Given the description of an element on the screen output the (x, y) to click on. 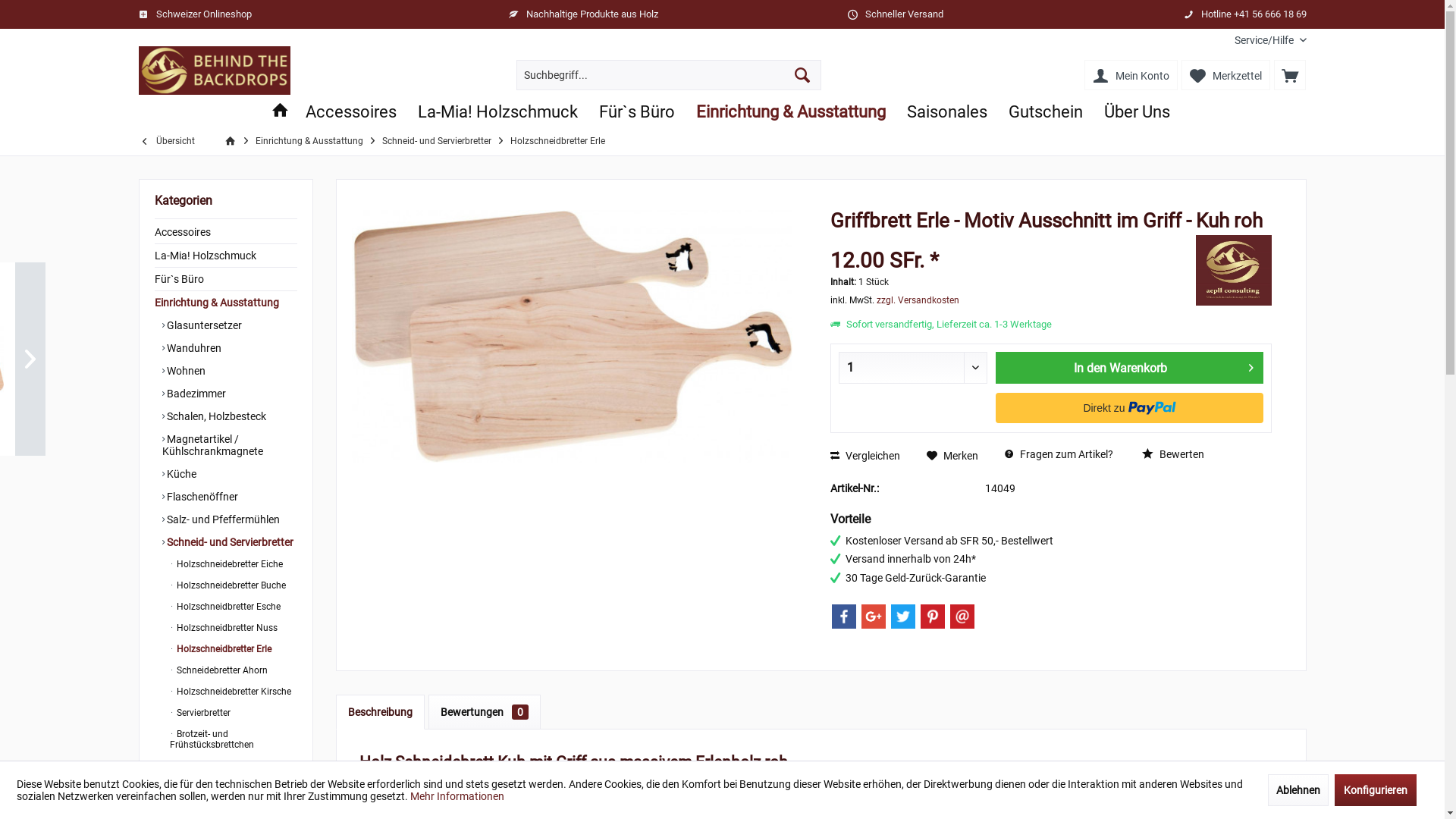
zzgl. Versandkosten Element type: text (917, 299)
Ablehnen Element type: text (1297, 790)
La-Mia - zur Startseite wechseln Element type: hover (213, 70)
Schneidebretter Ahorn Element type: text (233, 669)
Holzschneidbretter Erle Element type: text (233, 648)
Home Element type: hover (278, 112)
Saisonales Element type: text (225, 774)
Einrichtung & Ausstattung Element type: text (309, 141)
Accessoires Element type: text (350, 112)
Fragen zum Artikel? Element type: text (1058, 454)
Accessoires Element type: text (225, 231)
Merkzettel Element type: text (1225, 74)
La-Mia! Holzschmuck Element type: text (225, 255)
Holzschneidebretter Eiche Element type: text (233, 563)
Wohnen Element type: text (229, 370)
Schneid- und Servierbretter Element type: text (435, 141)
Holzschneidebretter Kirsche Element type: text (233, 691)
Weitere Artikel von aepll consulting gmbh Element type: hover (1233, 270)
Mein Konto Element type: text (1130, 74)
Einrichtung & Ausstattung Element type: text (225, 302)
Bewertungen 0 Element type: text (483, 711)
Beschreibung Element type: text (379, 711)
Gutschein Element type: text (1045, 112)
Bewertung abgeben Element type: hover (1011, 240)
Wanduhren Element type: text (229, 347)
Saisonales Element type: text (946, 112)
Gutschein Element type: text (225, 798)
Holzschneidbretter Esche Element type: text (233, 606)
Schalen, Holzbesteck Element type: text (229, 415)
Holzschneidbretter Erle Element type: text (557, 141)
Mehr Informationen Element type: text (457, 796)
Bewerten Element type: text (1173, 454)
PayPal Element type: hover (1129, 407)
Vergleichen Element type: text (865, 454)
Servierbretter Element type: text (233, 712)
Merken Element type: text (952, 454)
Holzschneidbretter Nuss Element type: text (233, 627)
Badezimmer Element type: text (229, 393)
Konfigurieren Element type: text (1375, 790)
Einrichtung & Ausstattung Element type: text (790, 112)
Holzschneidebretter Buche Element type: text (233, 585)
Glasuntersetzer Element type: text (229, 324)
Schneid- und Servierbretter Element type: text (229, 541)
In den Warenkorb Element type: text (1129, 367)
La-Mia! Holzschmuck Element type: text (496, 112)
Warenkorb Element type: hover (1289, 74)
